Given the description of an element on the screen output the (x, y) to click on. 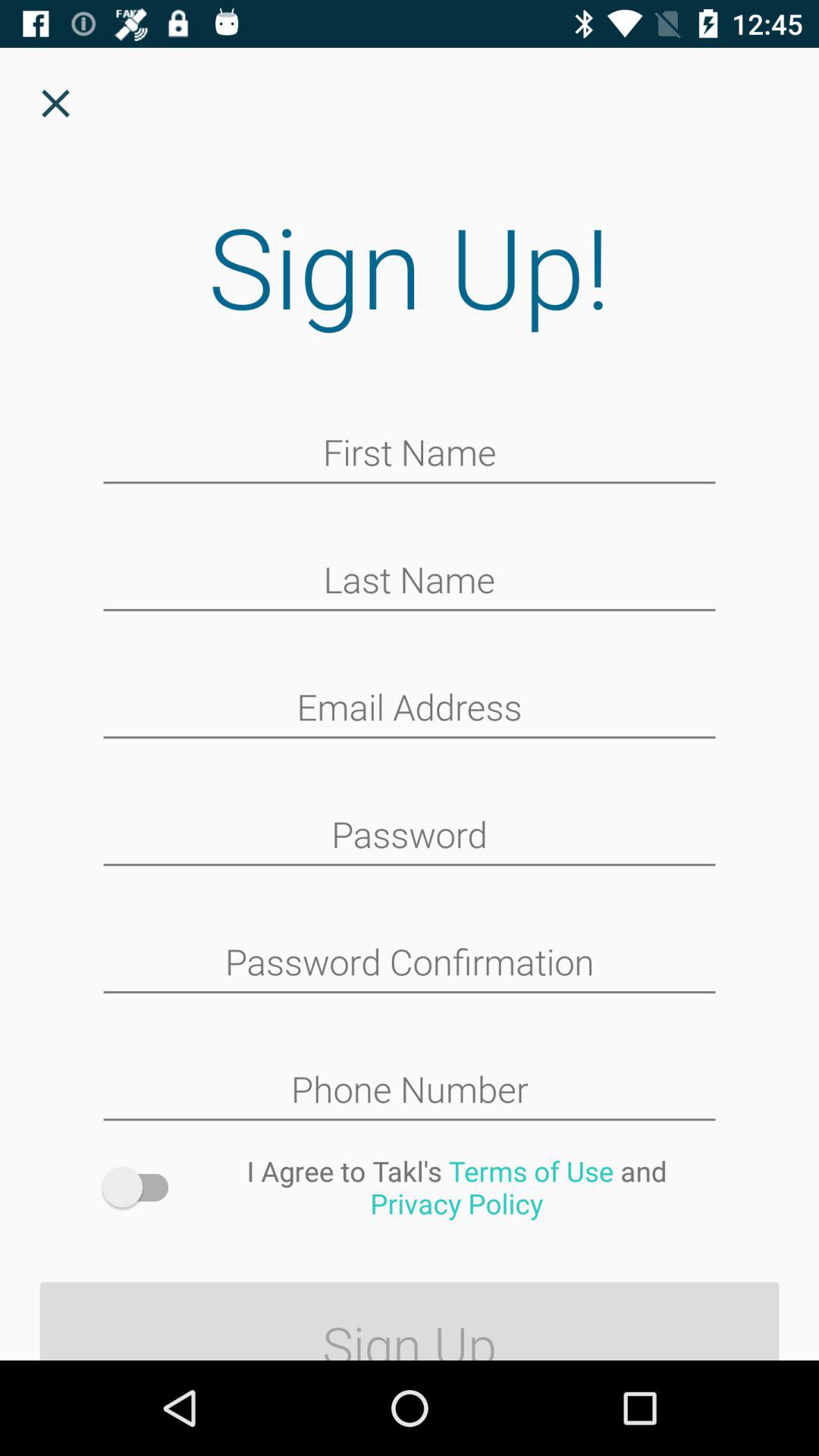
toggle accept button (142, 1187)
